Given the description of an element on the screen output the (x, y) to click on. 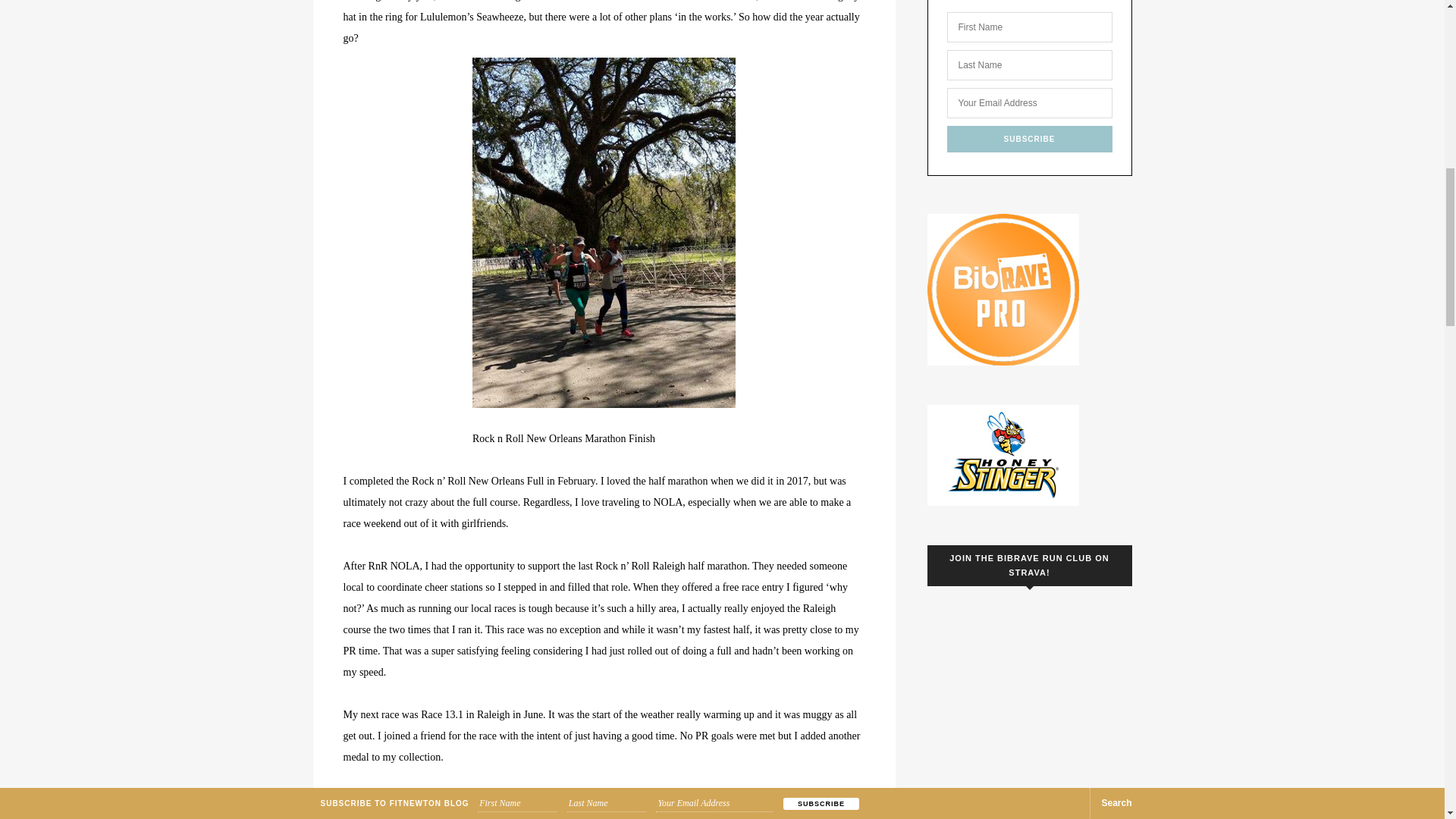
Subscribe (1029, 139)
